Given the description of an element on the screen output the (x, y) to click on. 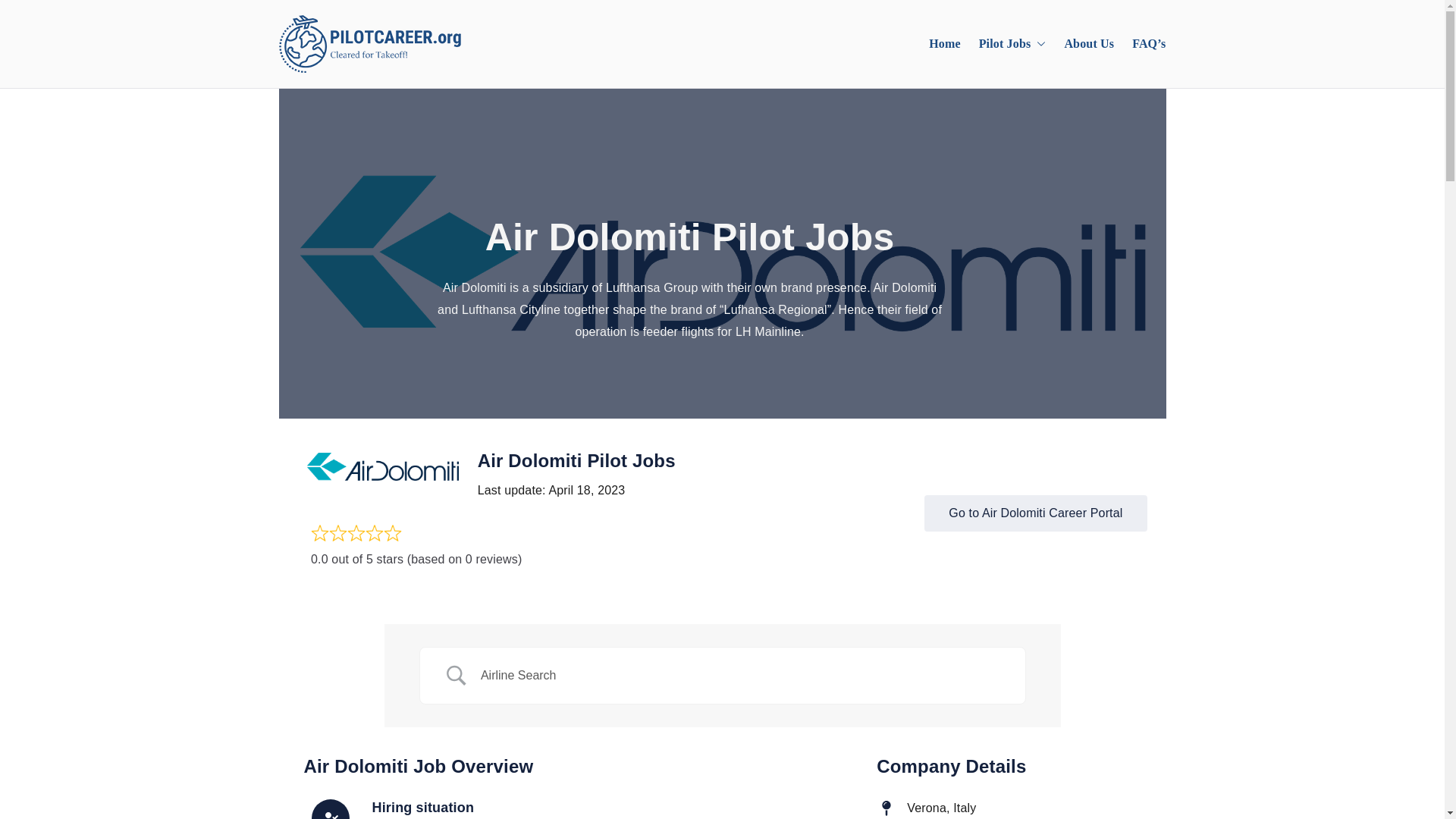
About Us (1088, 44)
Pilotcareer.org (534, 57)
Pilot Jobs (1012, 44)
Home (944, 44)
